Given the description of an element on the screen output the (x, y) to click on. 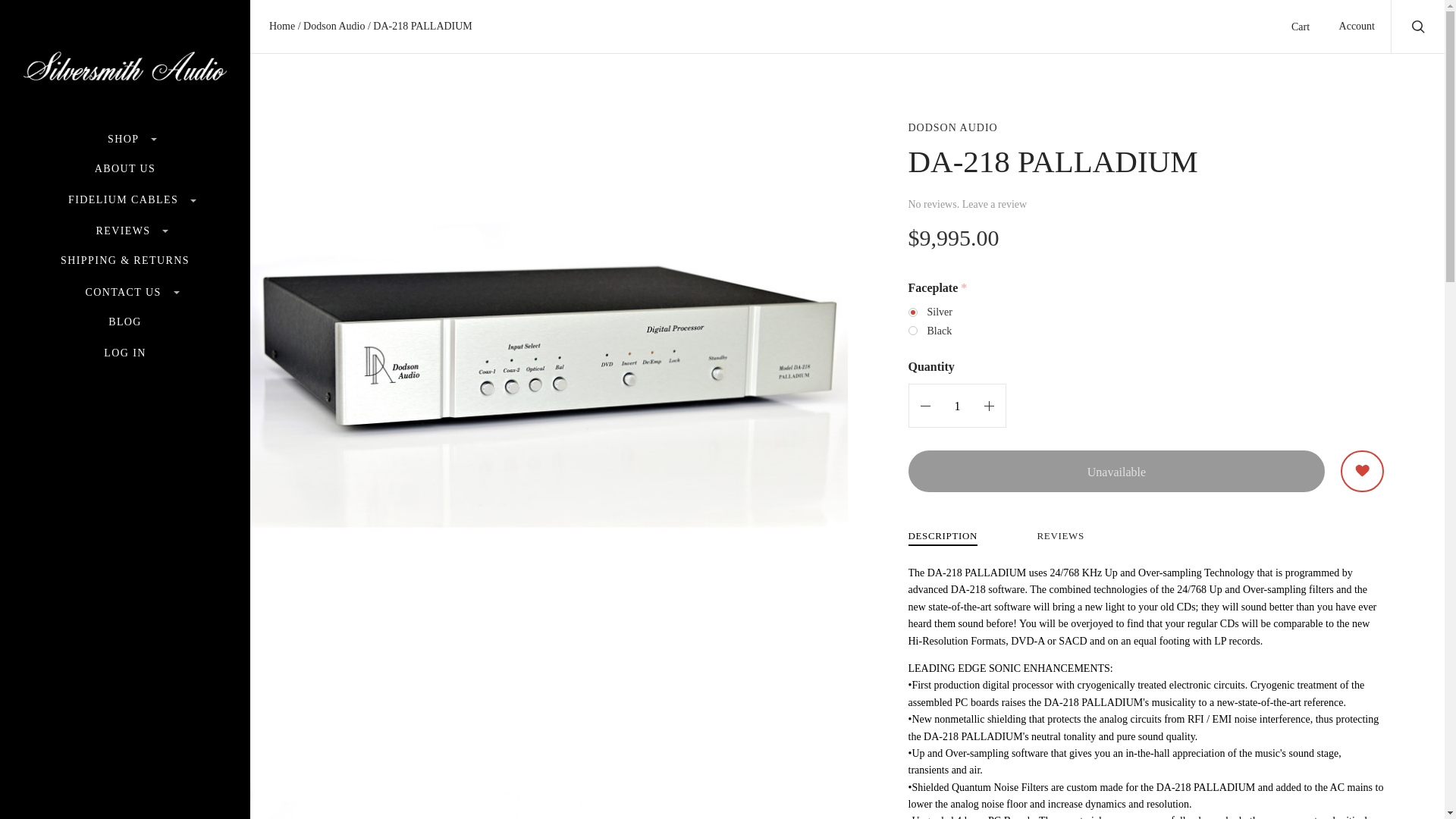
ABOUT US (124, 169)
DA-218 PALLADIUM (421, 25)
Home (283, 25)
DODSON AUDIO (952, 127)
Dodson Audio (335, 25)
SHOP (124, 139)
LOG IN (124, 354)
REVIEWS (125, 231)
CONTACT US (124, 292)
BLOG (124, 323)
1 (957, 405)
FIDELIUM CABLES (125, 200)
